Given the description of an element on the screen output the (x, y) to click on. 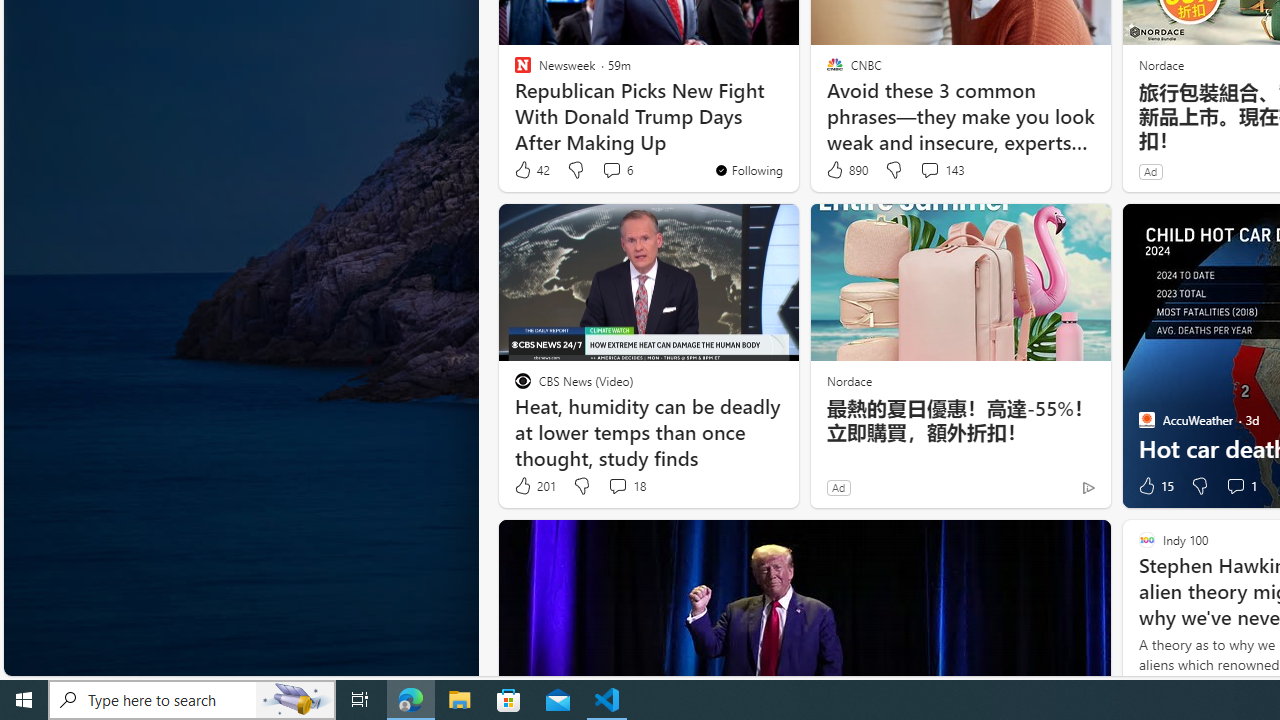
890 Like (845, 170)
Dislike (1199, 485)
Nordace (848, 380)
